Given the description of an element on the screen output the (x, y) to click on. 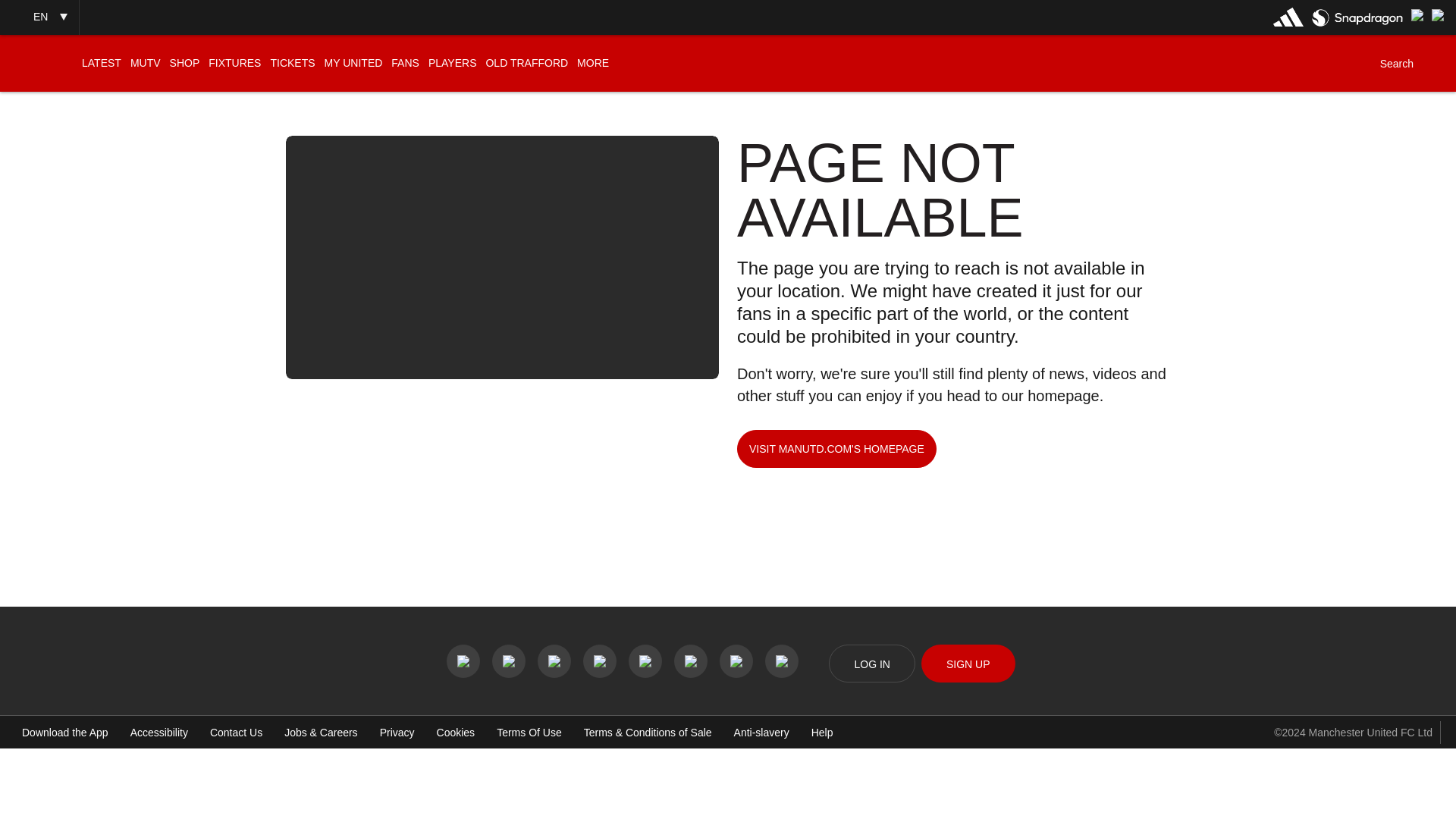
FIXTURES (233, 63)
TICKETS (291, 63)
PLAYERS (452, 63)
OLD TRAFFORD (526, 63)
VISIT MANUTD.COM'S HOMEPAGE (836, 448)
MY UNITED (353, 63)
